Given the description of an element on the screen output the (x, y) to click on. 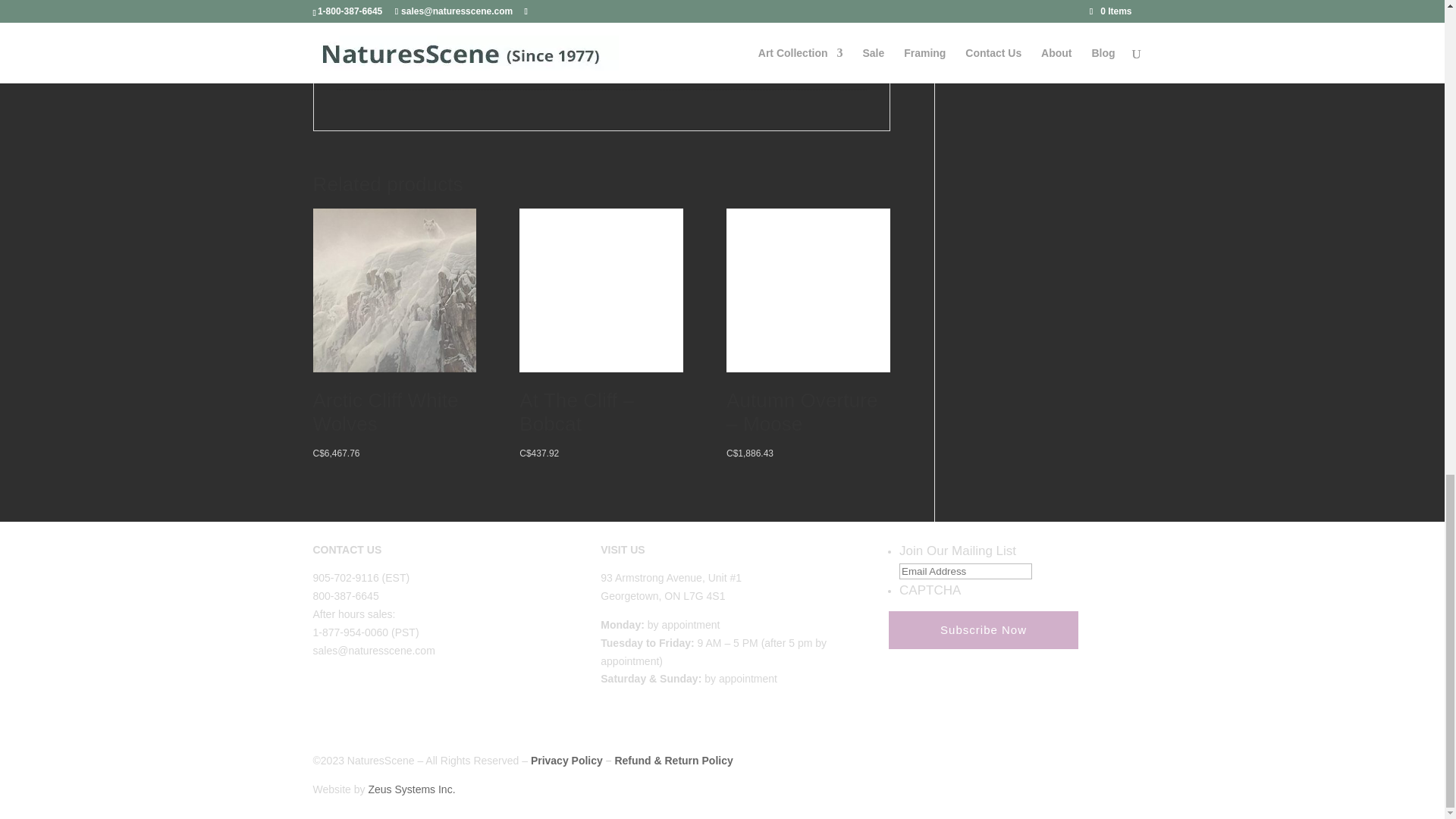
Follow on Facebook (324, 694)
800-387-6645 (345, 595)
Follow on Instagram (354, 694)
Privacy Policy (566, 760)
Follow on Pinterest (384, 694)
Subscribe Now (983, 629)
